Given the description of an element on the screen output the (x, y) to click on. 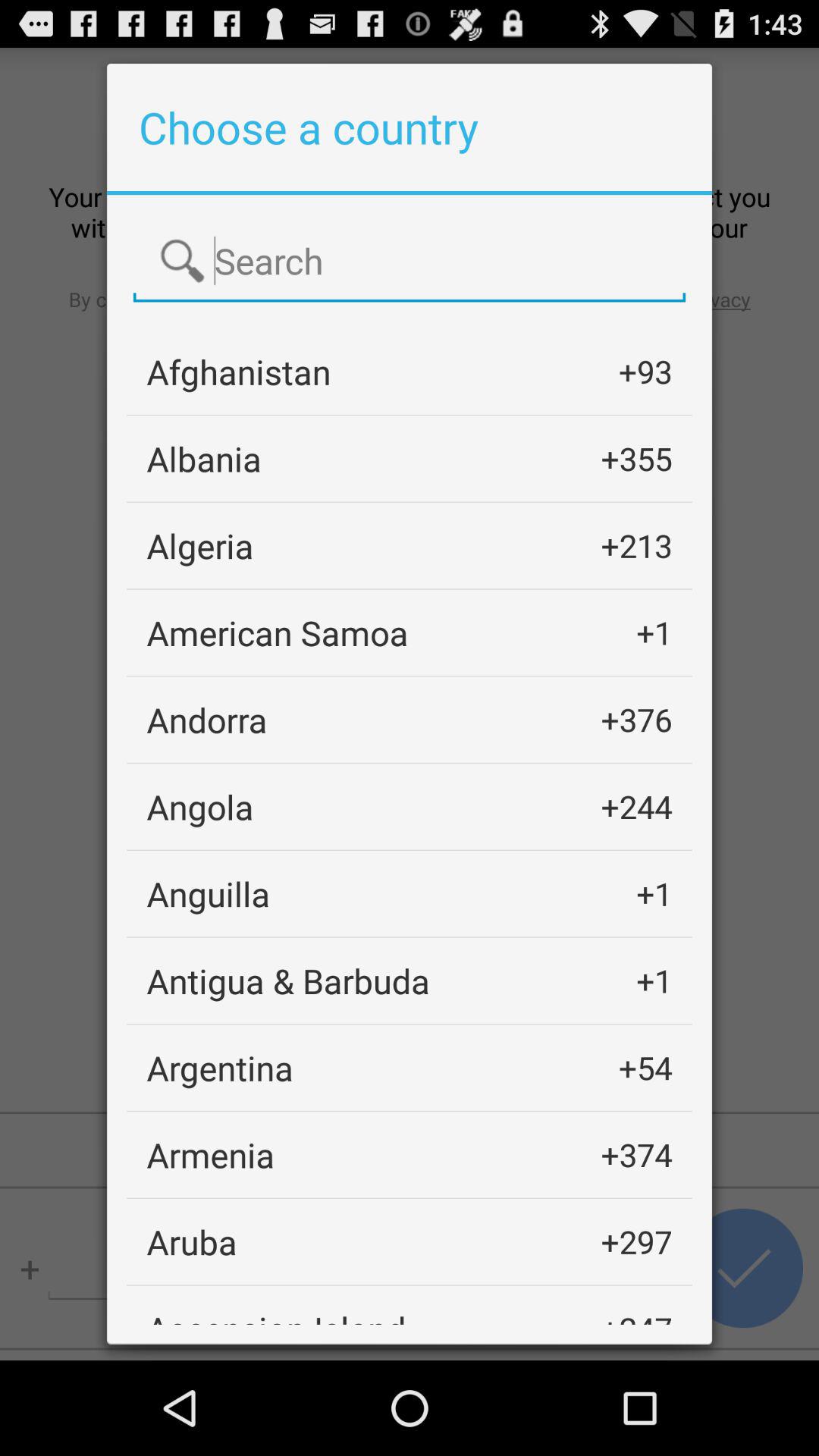
turn on app next to the +213 app (199, 545)
